Given the description of an element on the screen output the (x, y) to click on. 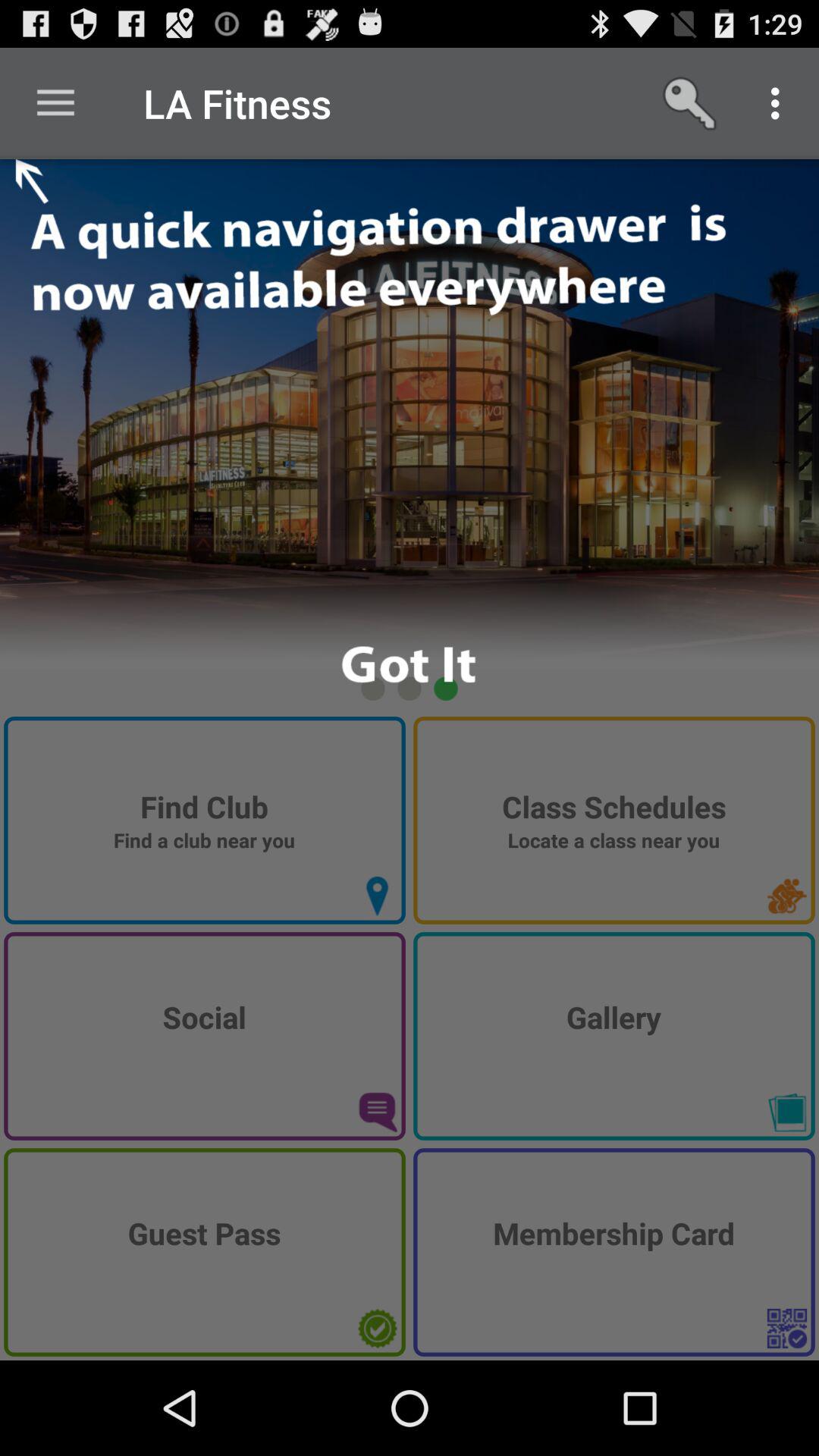
open the icon next to the la fitness item (55, 103)
